Given the description of an element on the screen output the (x, y) to click on. 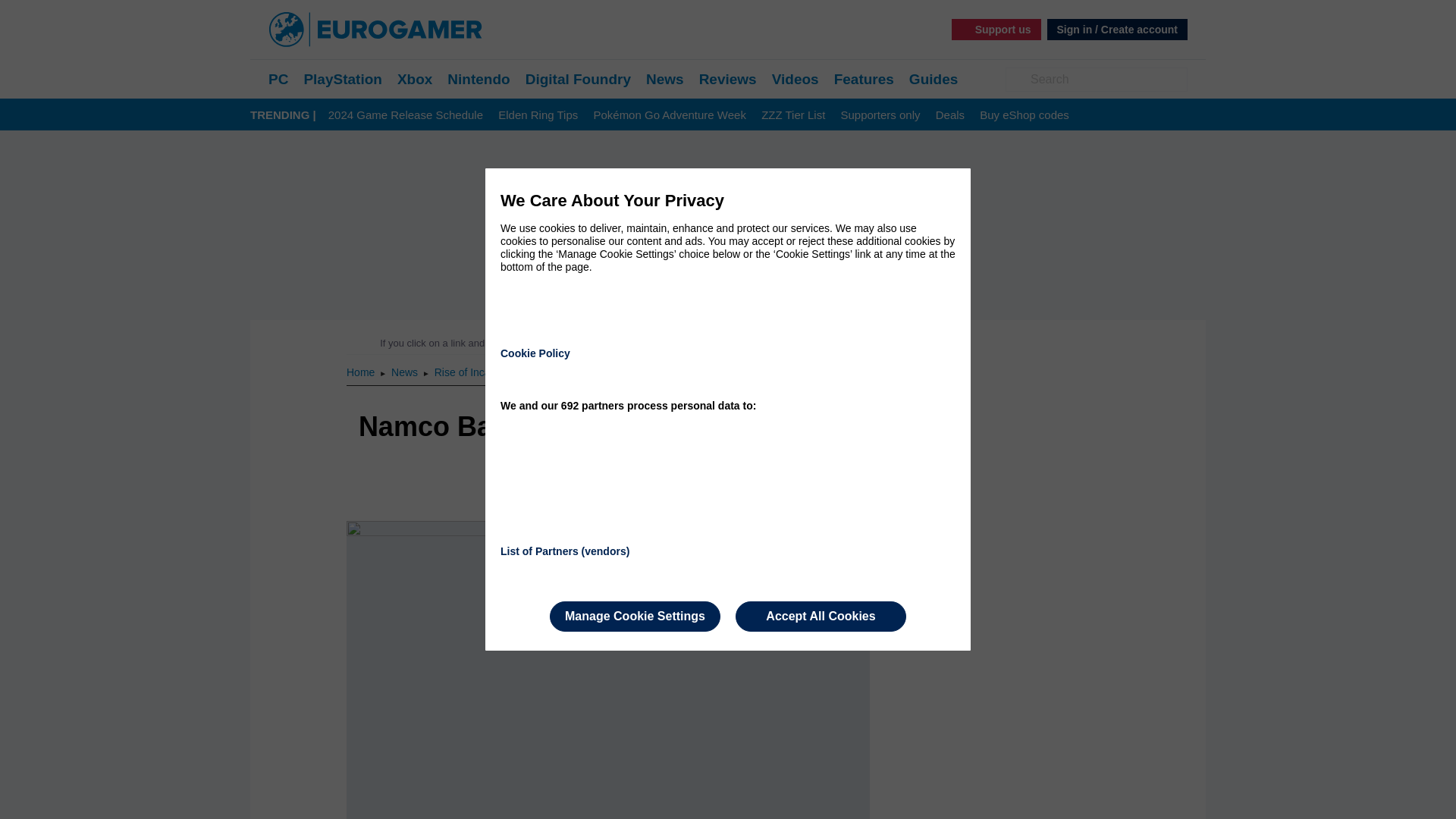
Digital Foundry (577, 78)
Features (863, 78)
Reviews (727, 78)
Buy eShop codes (1023, 114)
Support us (996, 29)
Home (361, 372)
News (665, 78)
Guides (933, 78)
ZZZ Tier List (793, 114)
Xbox (414, 78)
